Given the description of an element on the screen output the (x, y) to click on. 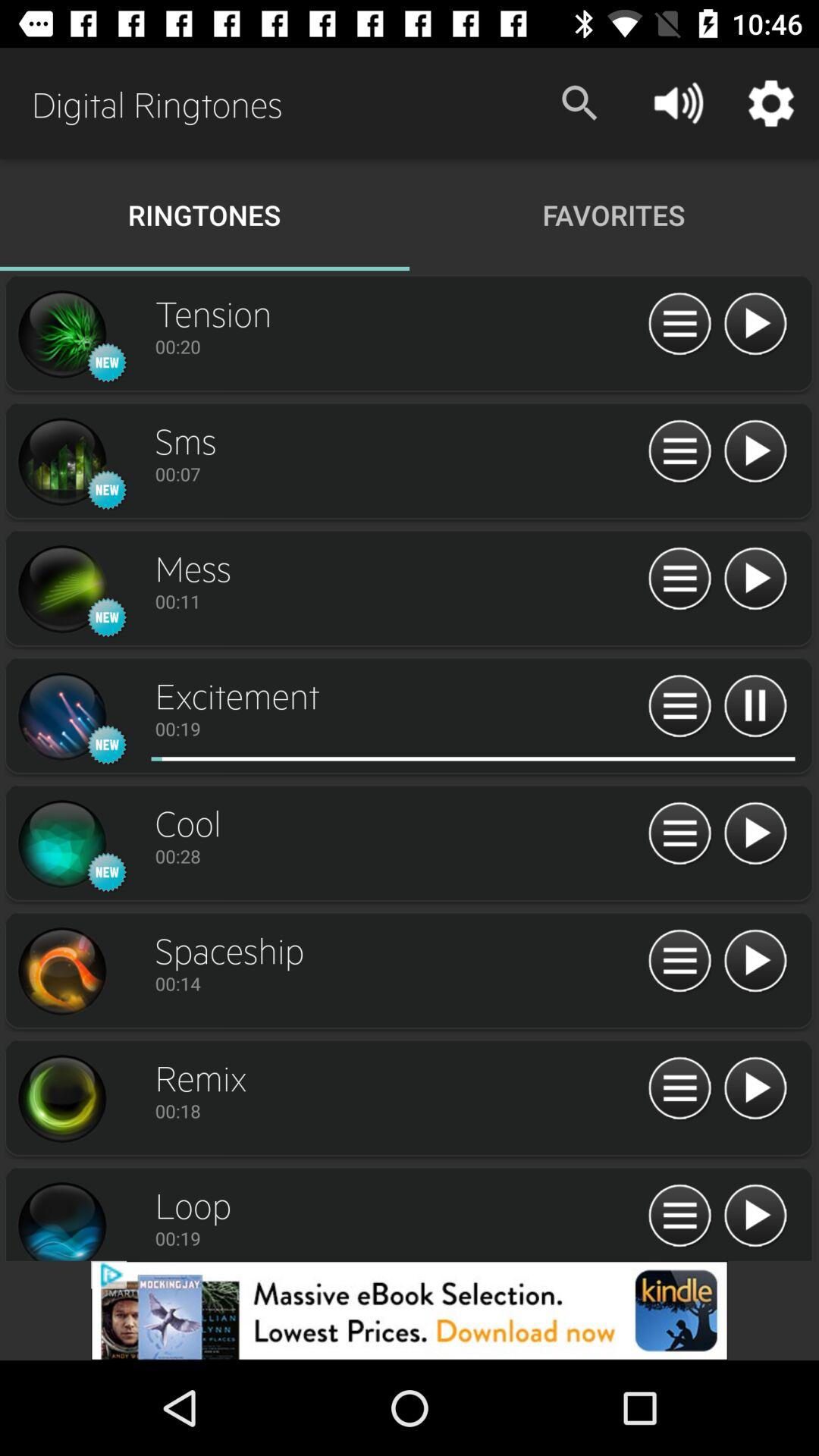
open menu (679, 834)
